Given the description of an element on the screen output the (x, y) to click on. 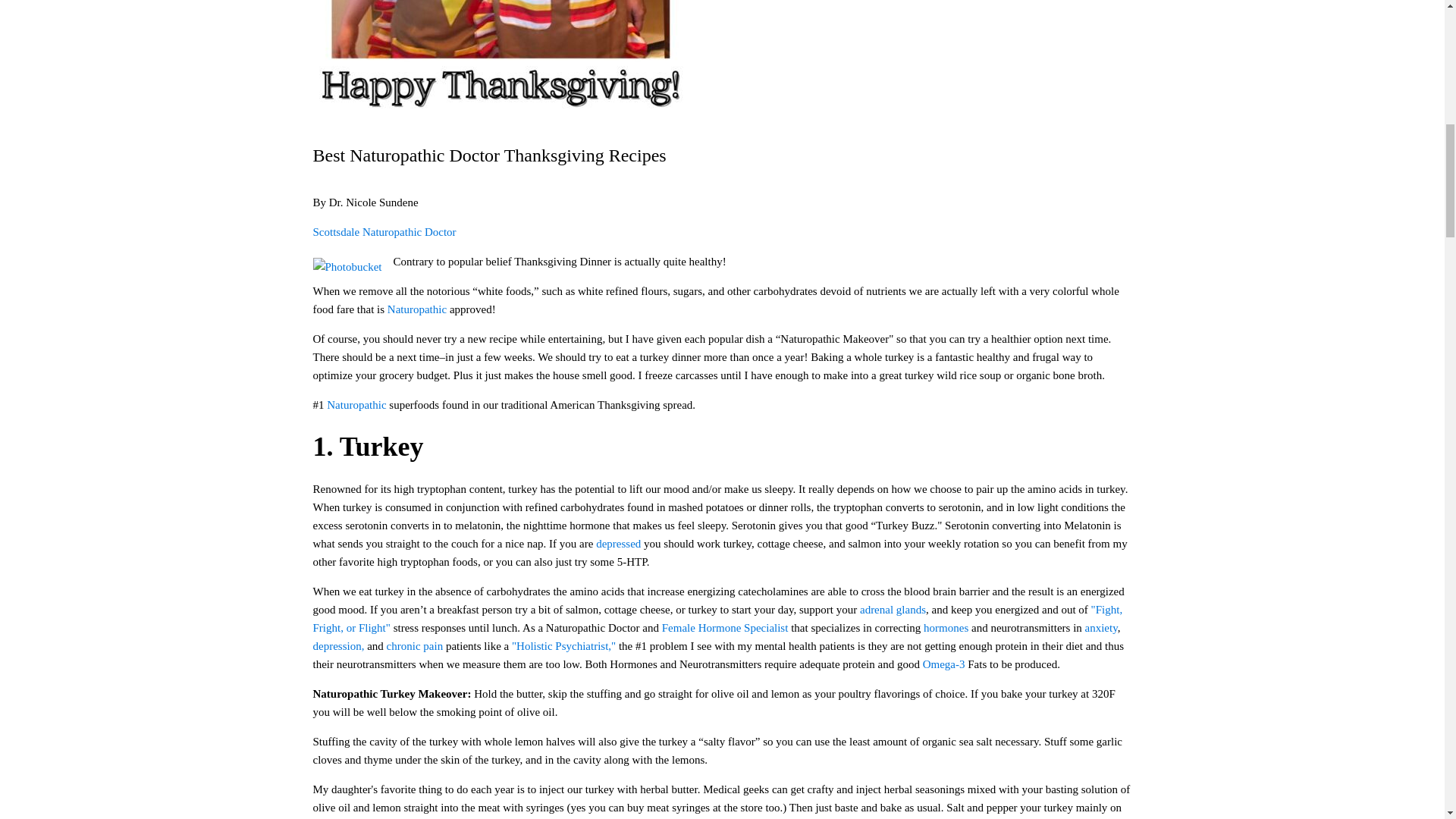
depression, (339, 645)
adrenal glands (893, 609)
depressed (616, 543)
Naturopathic (355, 404)
chronic pain (415, 645)
Female Hormone Specialist (725, 627)
Scottsdale Naturopathic Doctor (384, 232)
Naturopathic (416, 309)
"Holistic Psychiatrist," (563, 645)
Omega-3 (944, 664)
